Given the description of an element on the screen output the (x, y) to click on. 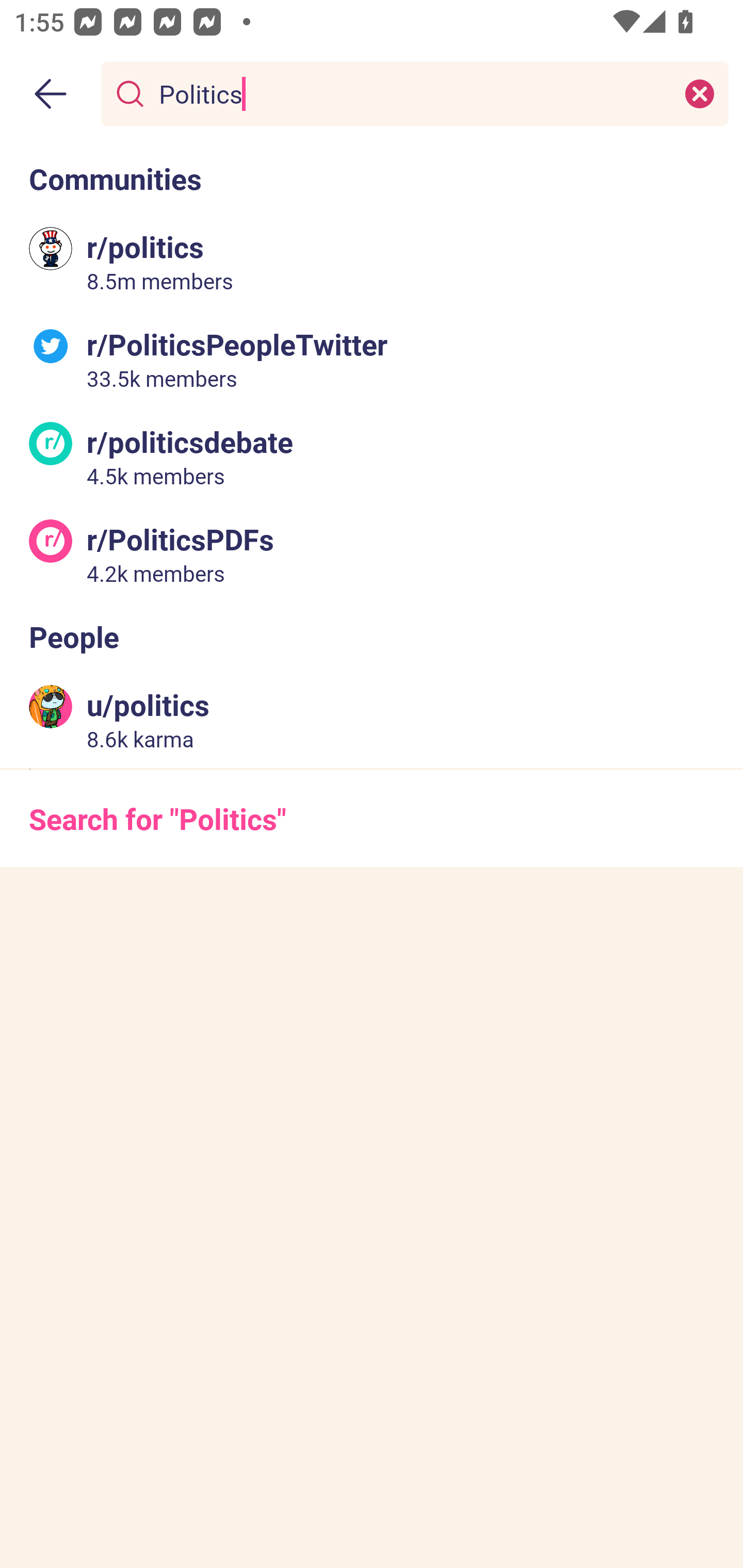
Back (50, 93)
Politics (410, 93)
Clear search (699, 93)
r/politics 8.5m members 8.5 million members (371, 261)
r/politicsdebate 4.5k members 4.5 thousand members (371, 455)
r/PoliticsPDFs 4.2k members 4.2 thousand members (371, 553)
u/politics 8.6k karma 8.6 thousand karma (371, 719)
Search for "Politics" (371, 818)
